Given the description of an element on the screen output the (x, y) to click on. 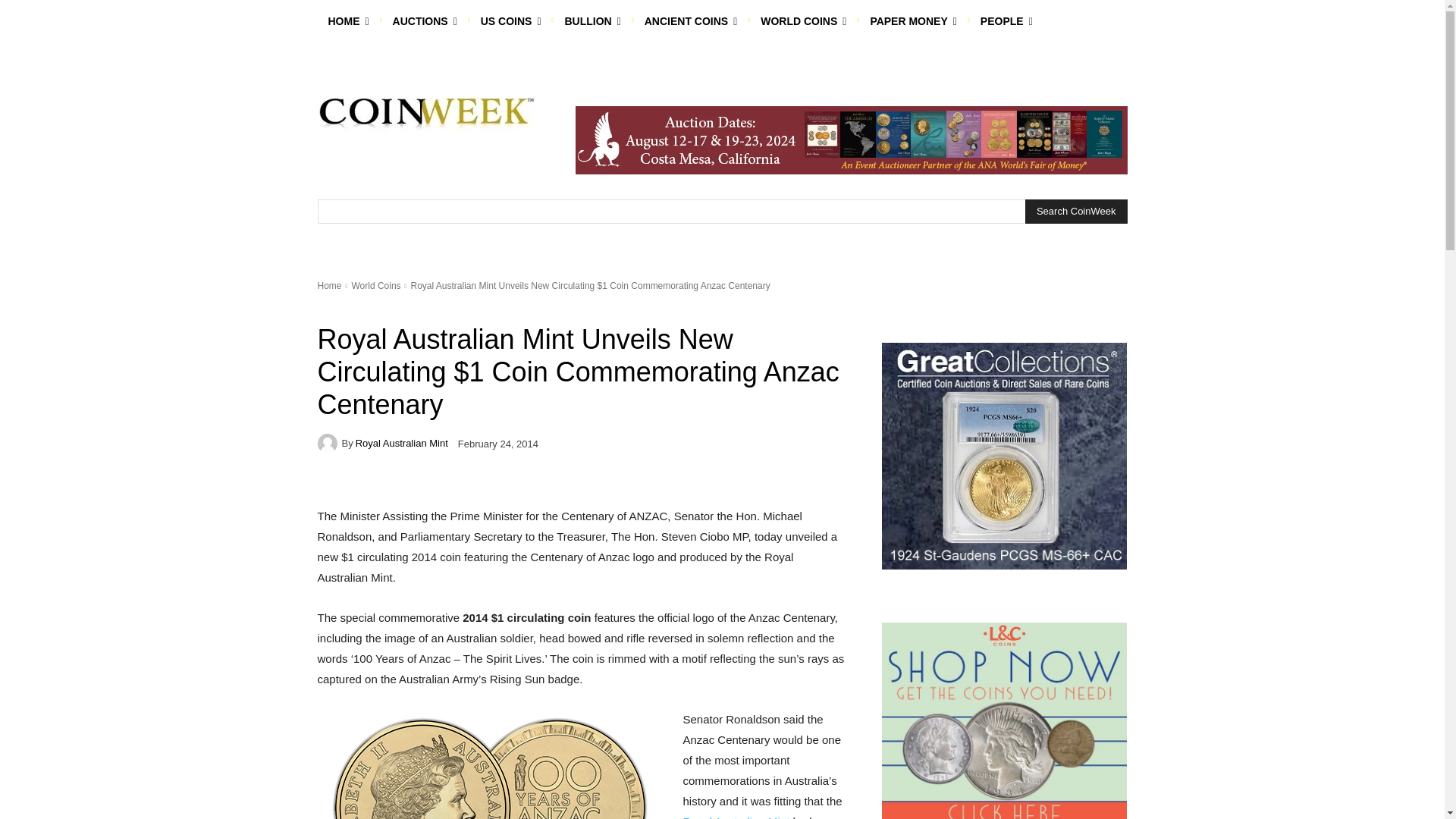
AUCTIONS (424, 21)
Royal Australian Mint (328, 443)
HOME (347, 21)
View all posts in World Coins (375, 285)
